Given the description of an element on the screen output the (x, y) to click on. 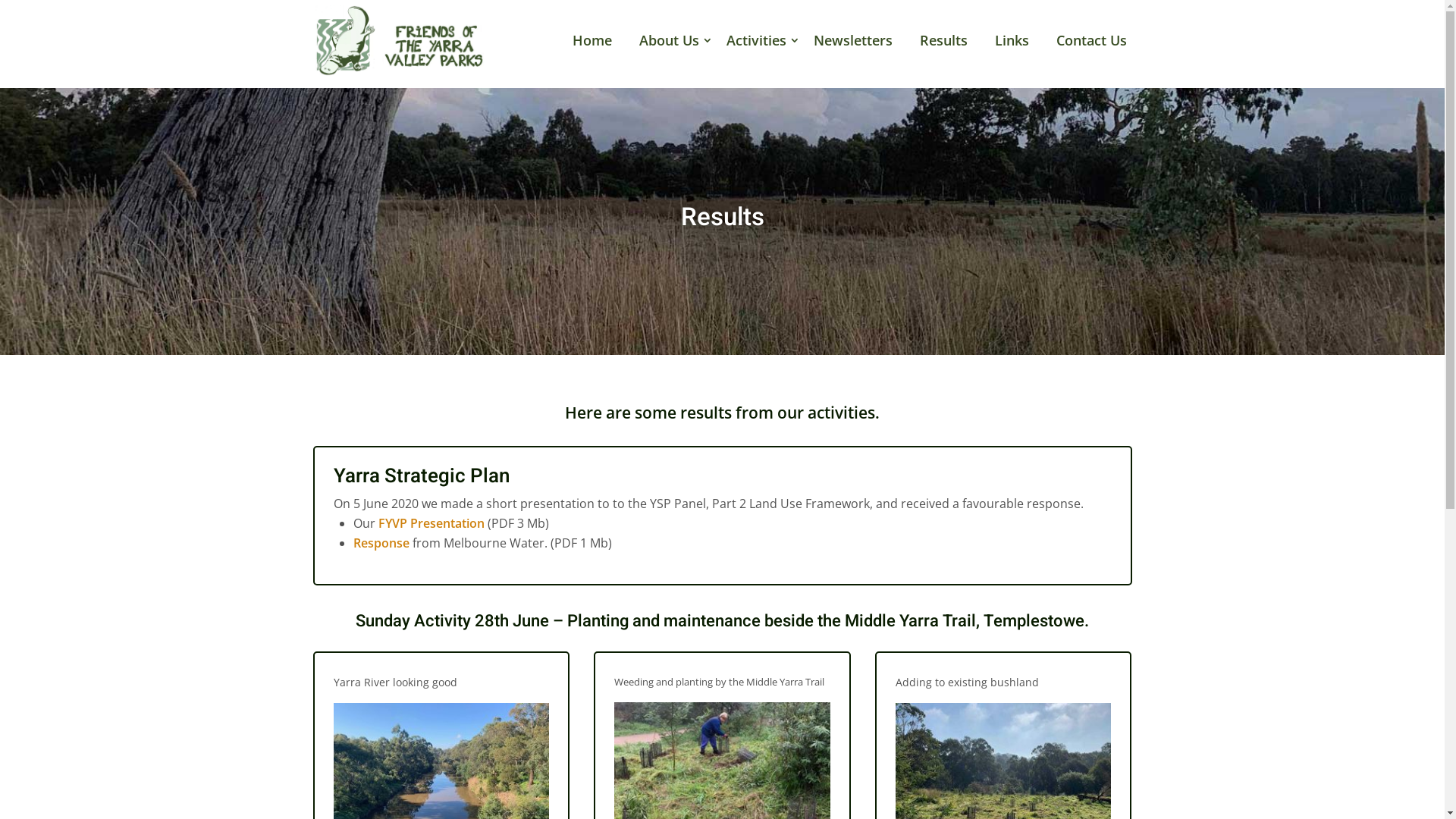
Home Element type: text (591, 39)
FYVP Presentation Element type: text (430, 522)
Results Element type: text (942, 39)
About Us Element type: text (668, 39)
Activities Element type: text (756, 39)
Contact Us Element type: text (1090, 39)
Response Element type: text (381, 542)
Newsletters Element type: text (852, 39)
Links Element type: text (1011, 39)
